Given the description of an element on the screen output the (x, y) to click on. 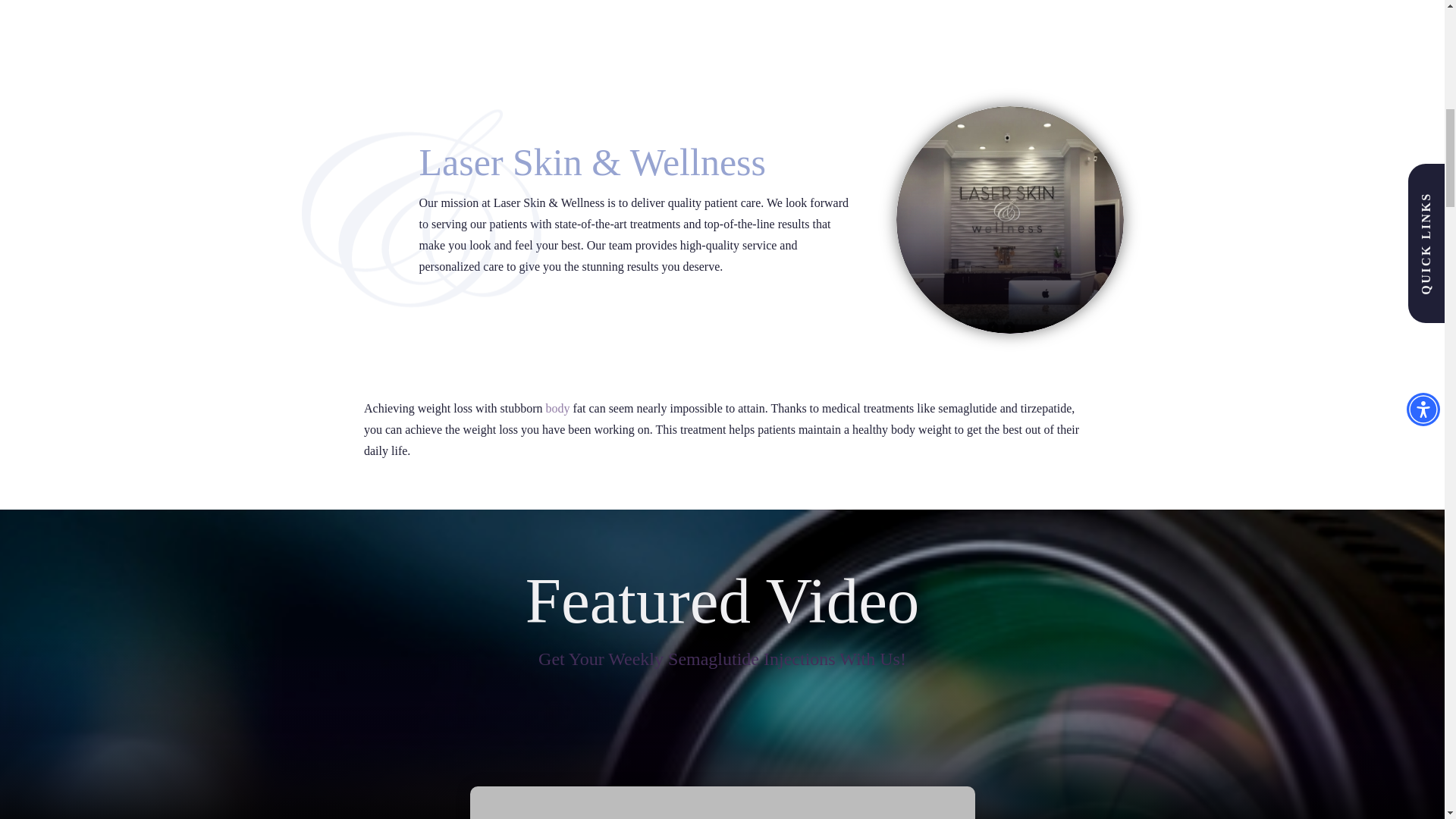
YouTube video player (722, 802)
